Given the description of an element on the screen output the (x, y) to click on. 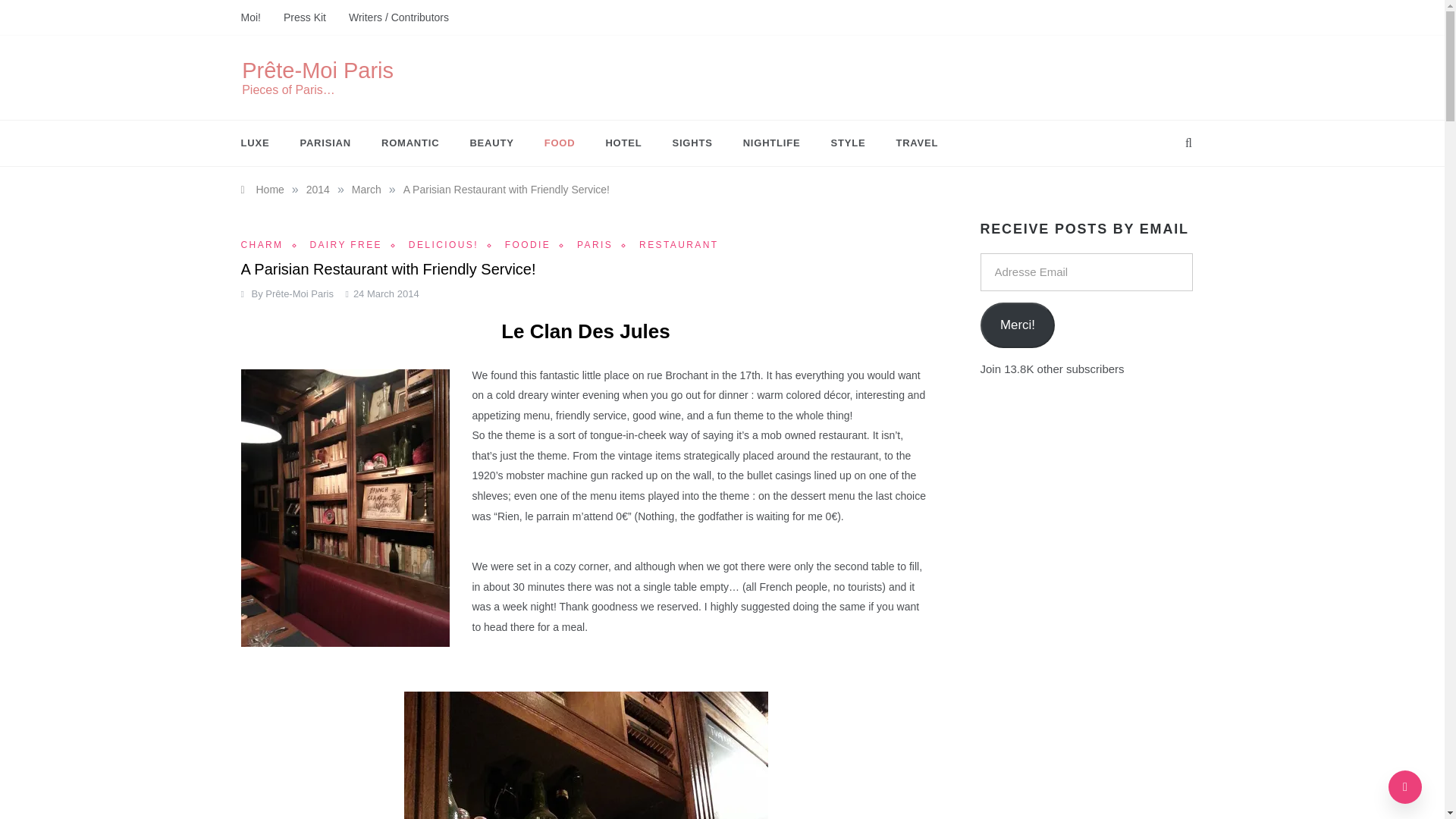
SIGHTS (691, 143)
Hotels (622, 143)
PARIS (606, 244)
HOTEL (622, 143)
2014 (317, 189)
FOOD (560, 143)
CHARM (274, 244)
Press Kit (304, 17)
STYLE (847, 143)
NIGHTLIFE (771, 143)
